Given the description of an element on the screen output the (x, y) to click on. 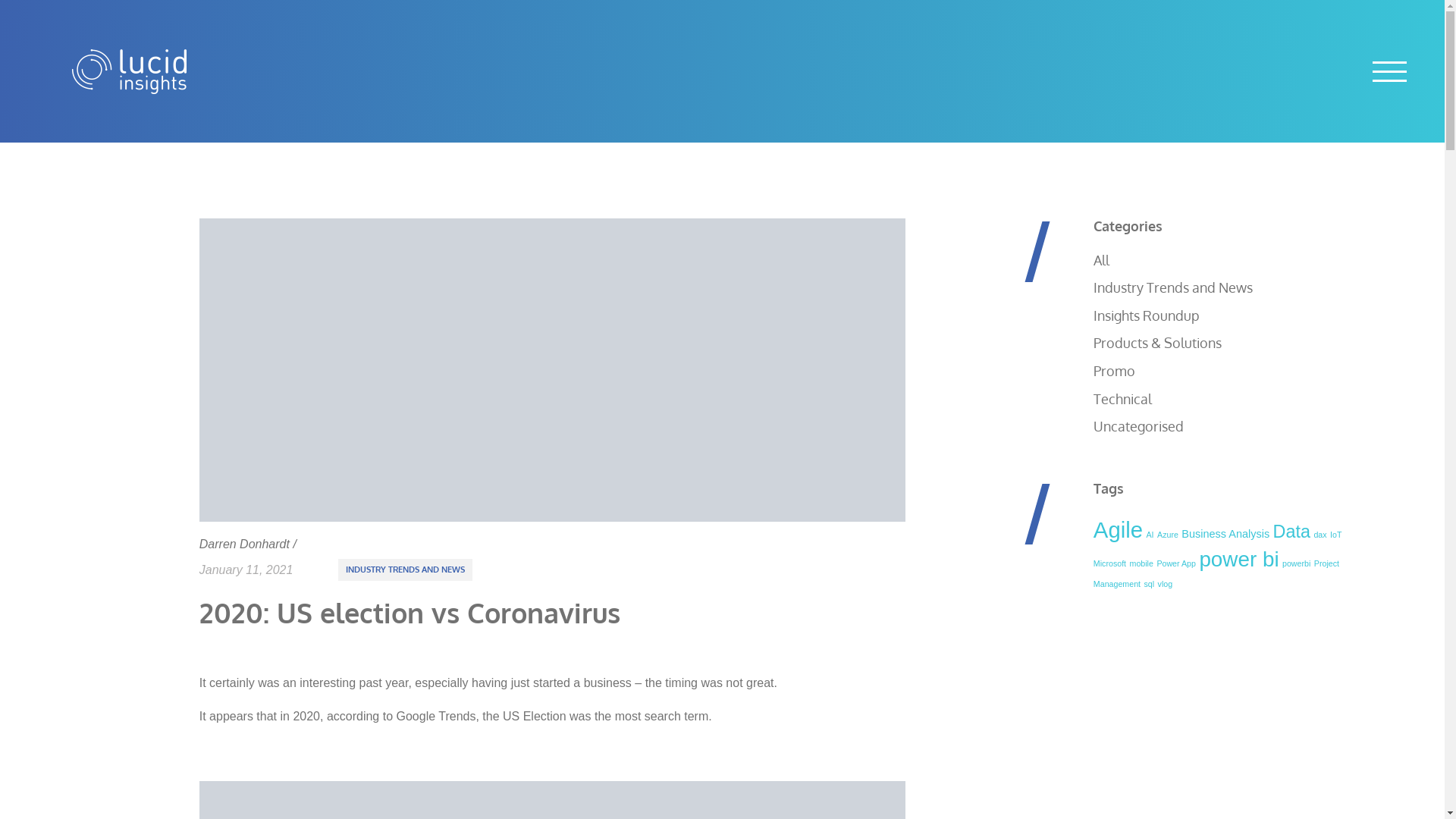
Microsoft Element type: text (1109, 562)
dax Element type: text (1319, 534)
sql Element type: text (1148, 583)
IoT Element type: text (1335, 534)
power bi Element type: text (1238, 559)
Technical Element type: text (1122, 398)
Darren Donhardt Element type: text (244, 543)
Insights Roundup Element type: text (1146, 315)
Azure Element type: text (1167, 534)
Business Analysis Element type: text (1225, 533)
Agile Element type: text (1117, 529)
Promo Element type: text (1114, 370)
Data Element type: text (1291, 531)
vlog Element type: text (1165, 583)
INDUSTRY TRENDS AND NEWS Element type: text (404, 569)
powerbi Element type: text (1296, 562)
Industry Trends and News Element type: text (1172, 287)
mobile Element type: text (1141, 562)
All Element type: text (1101, 259)
Products & Solutions Element type: text (1157, 342)
Project Management Element type: text (1216, 573)
Power App Element type: text (1175, 562)
Uncategorised Element type: text (1138, 425)
AI Element type: text (1150, 534)
